Given the description of an element on the screen output the (x, y) to click on. 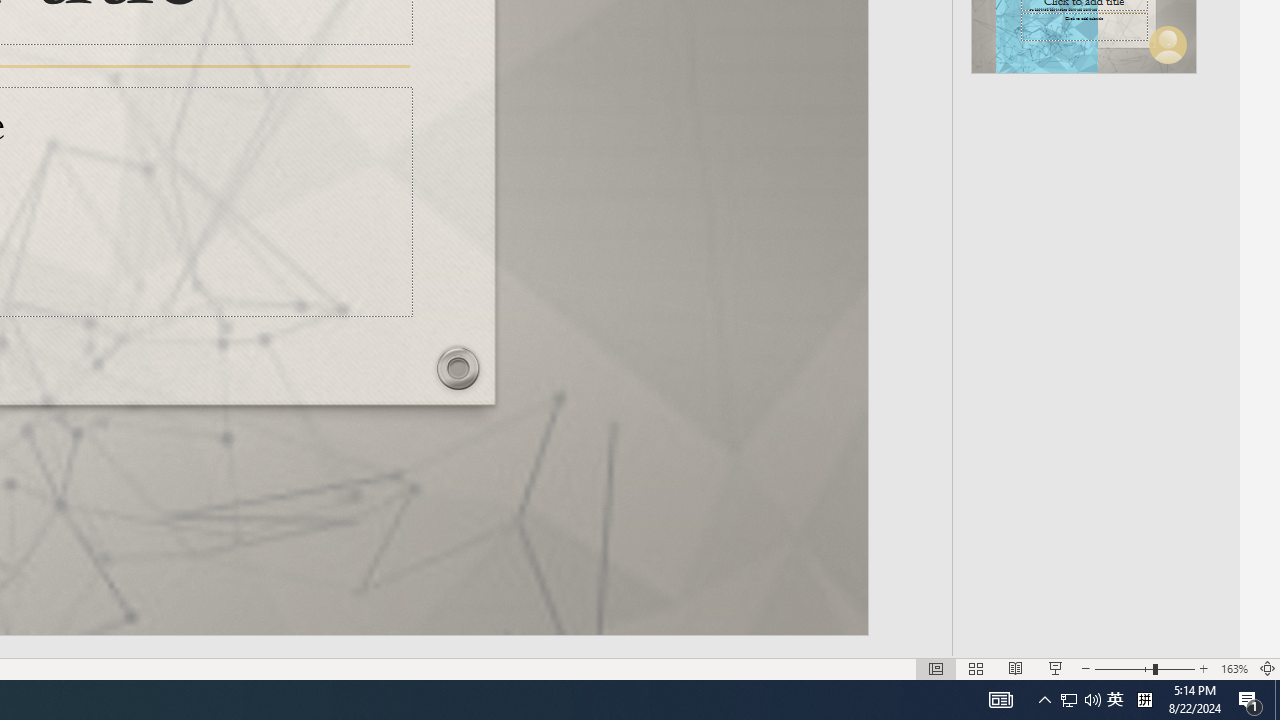
Zoom 163% (1234, 668)
